Given the description of an element on the screen output the (x, y) to click on. 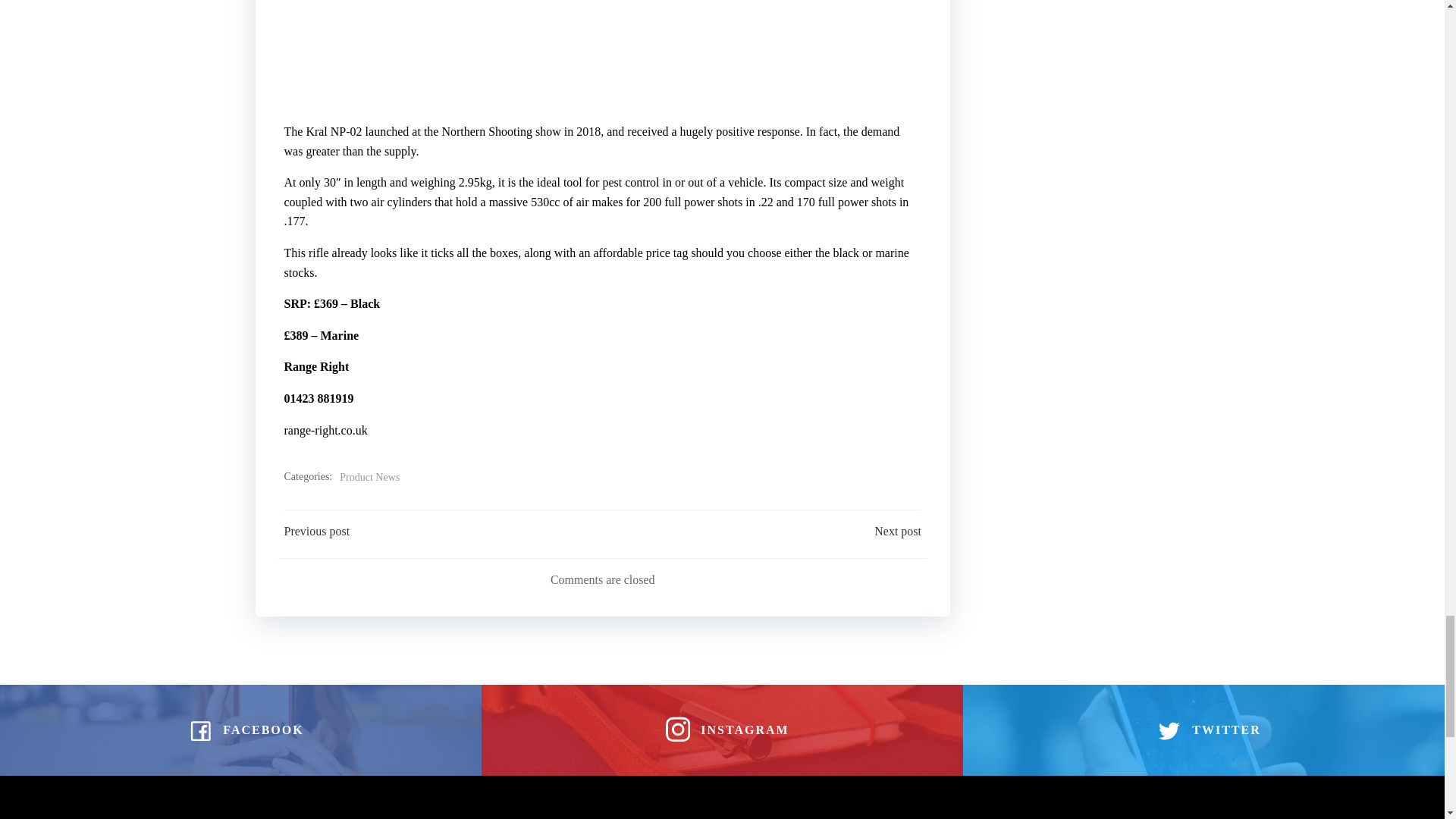
range-right.co.uk (324, 430)
FACEBOOK (239, 729)
Product News (368, 477)
Next post (898, 531)
TWITTER (1203, 729)
Previous post (316, 531)
INSTAGRAM (722, 729)
